Given the description of an element on the screen output the (x, y) to click on. 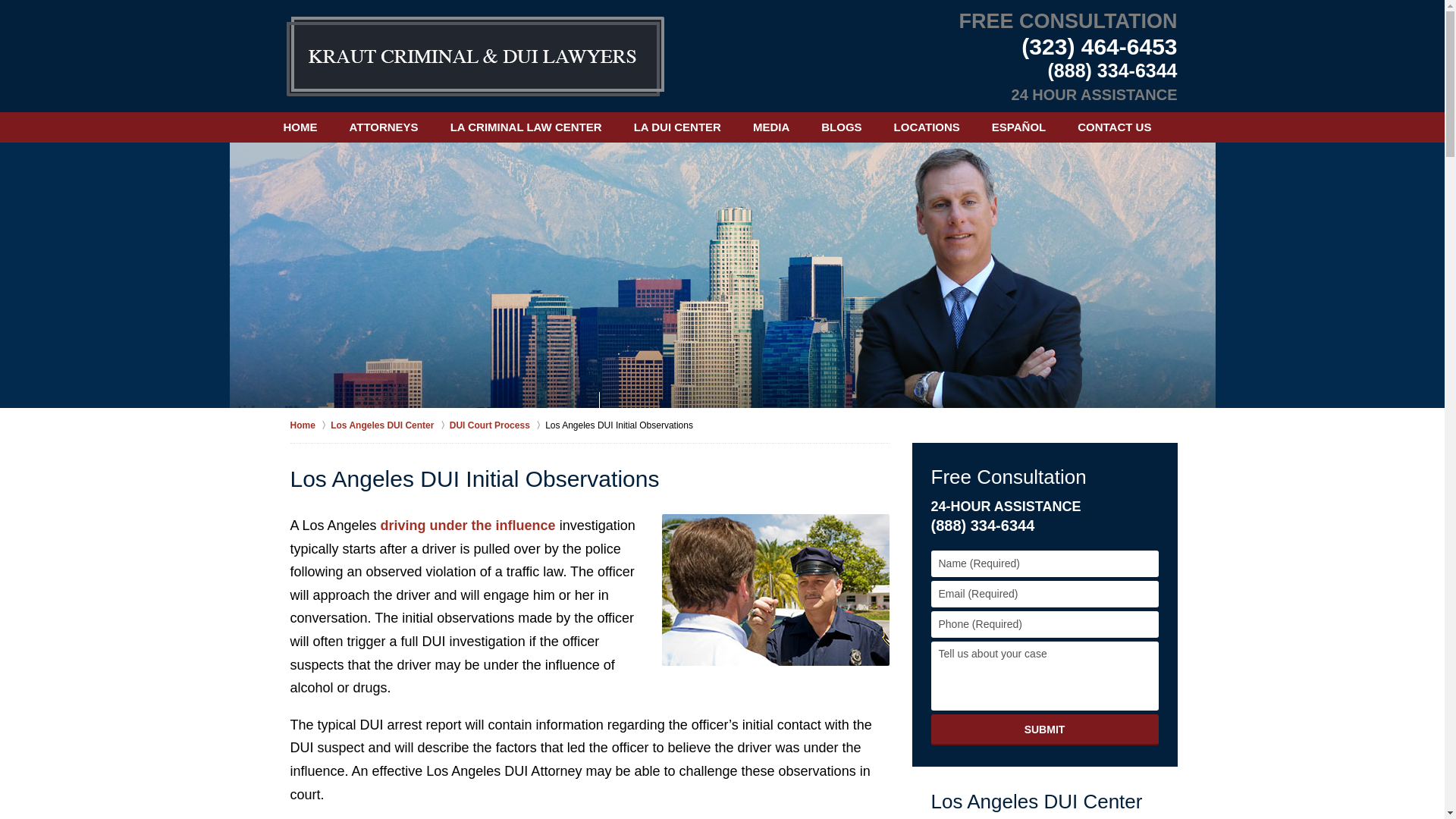
CONTACT US (1114, 127)
BLOGS (841, 127)
Free Consultation (1008, 477)
MEDIA (770, 127)
DUI Court Process (496, 425)
SUBMIT (1044, 729)
HOME (299, 127)
ATTORNEYS (383, 127)
driving under the influence (468, 525)
LOCATIONS (926, 127)
Home (309, 425)
LA CRIMINAL LAW CENTER (525, 127)
Back to Home (474, 56)
Los Angeles DUI Center (389, 425)
LA DUI CENTER (676, 127)
